Given the description of an element on the screen output the (x, y) to click on. 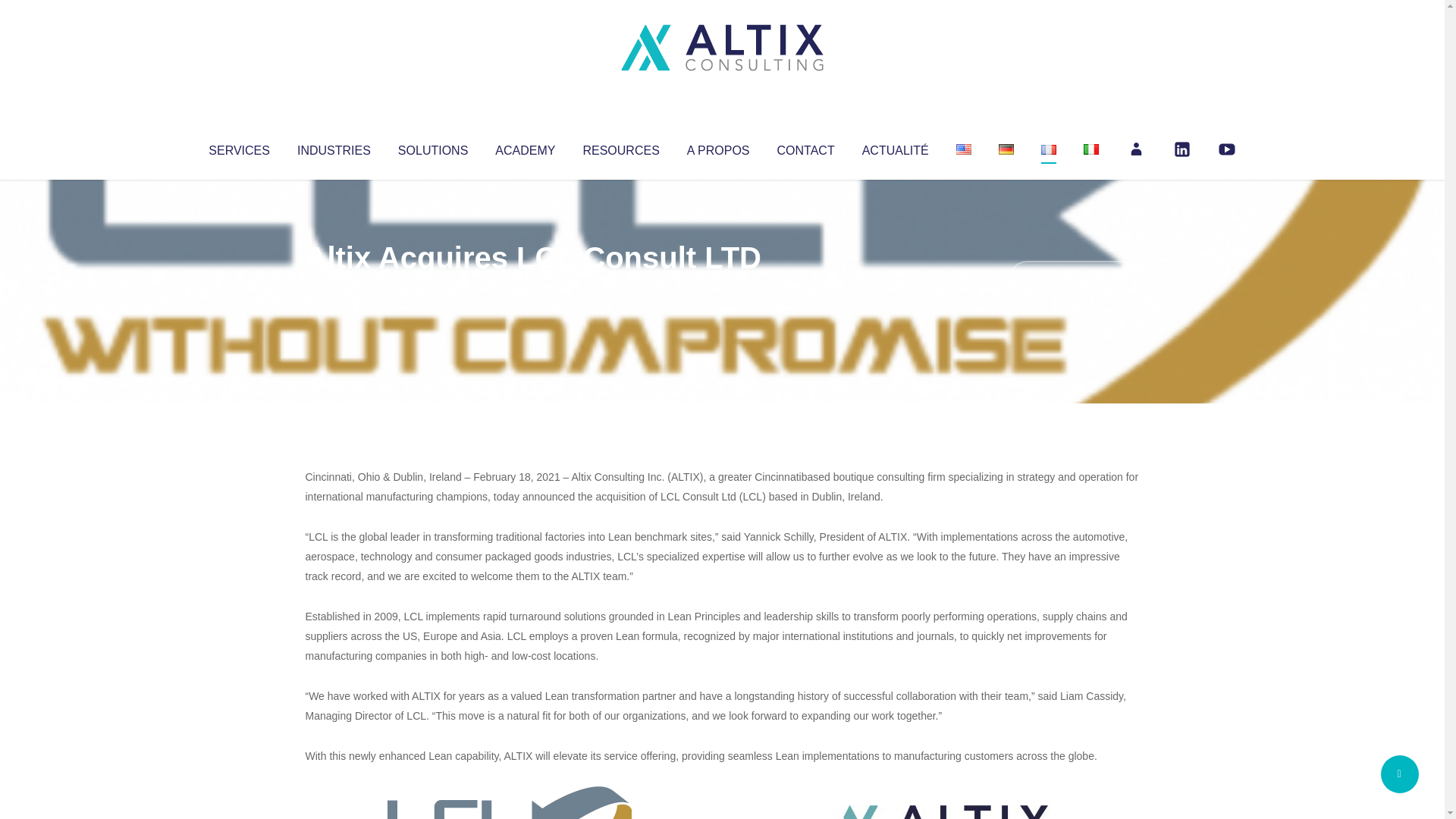
Articles par Altix (333, 287)
Altix (333, 287)
No Comments (1073, 278)
RESOURCES (620, 146)
SOLUTIONS (432, 146)
SERVICES (238, 146)
Uncategorized (530, 287)
A PROPOS (718, 146)
INDUSTRIES (334, 146)
ACADEMY (524, 146)
